Given the description of an element on the screen output the (x, y) to click on. 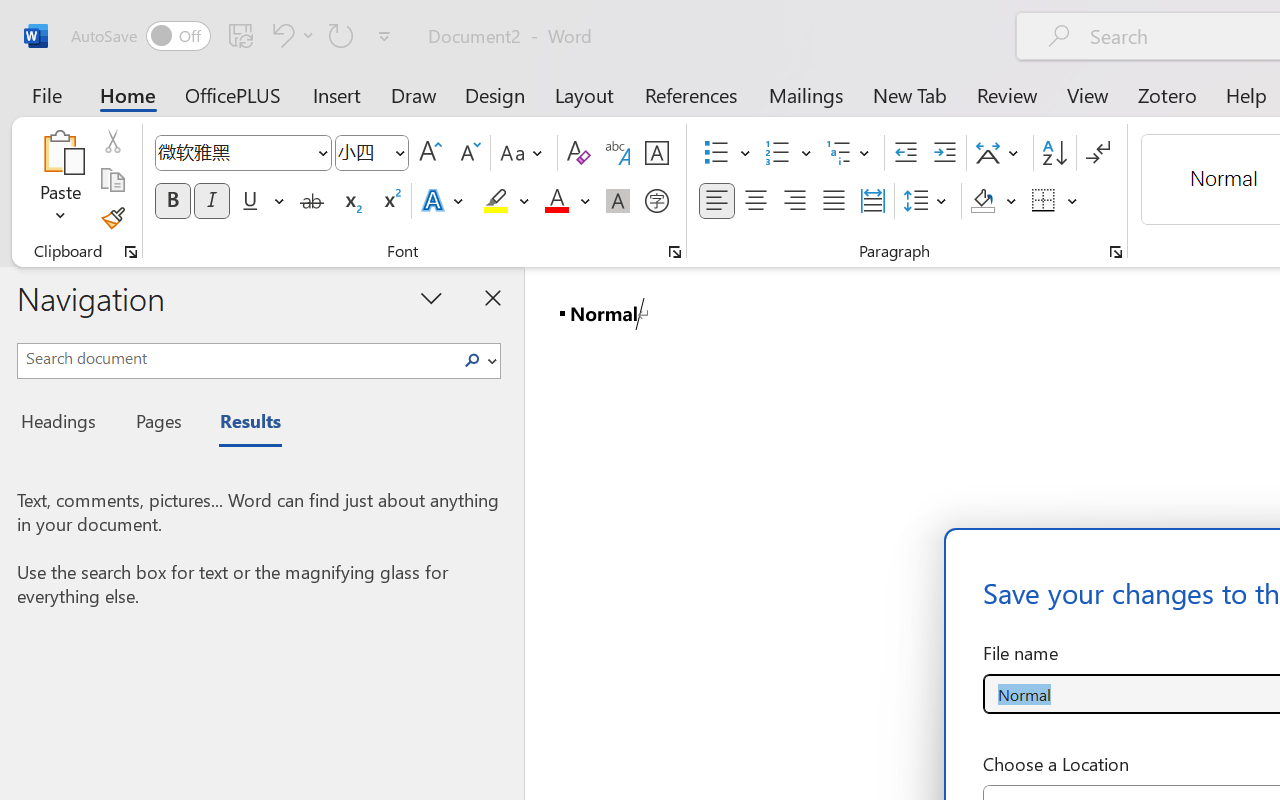
Pages (156, 424)
Character Border (656, 153)
Font (242, 153)
Open (399, 152)
Font Size (362, 152)
Bullets (727, 153)
Font Color (567, 201)
Decrease Indent (906, 153)
Search (471, 360)
Cut (112, 141)
Underline (261, 201)
Layout (584, 94)
Shrink Font (468, 153)
Repeat Style (341, 35)
